Given the description of an element on the screen output the (x, y) to click on. 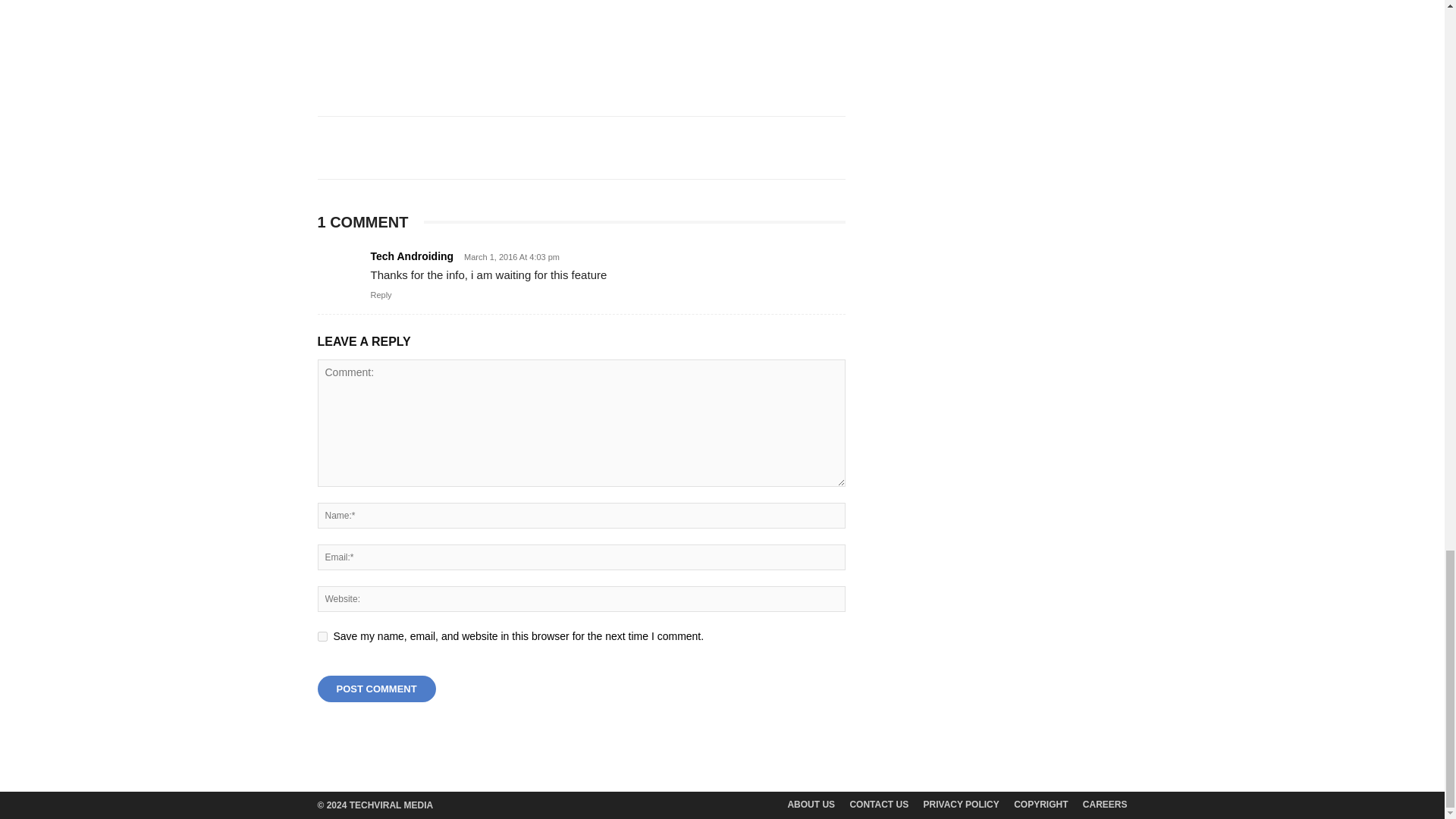
Post Comment (376, 688)
March 1, 2016 At 4:03 pm (508, 256)
Reply (380, 294)
yes (321, 636)
